Given the description of an element on the screen output the (x, y) to click on. 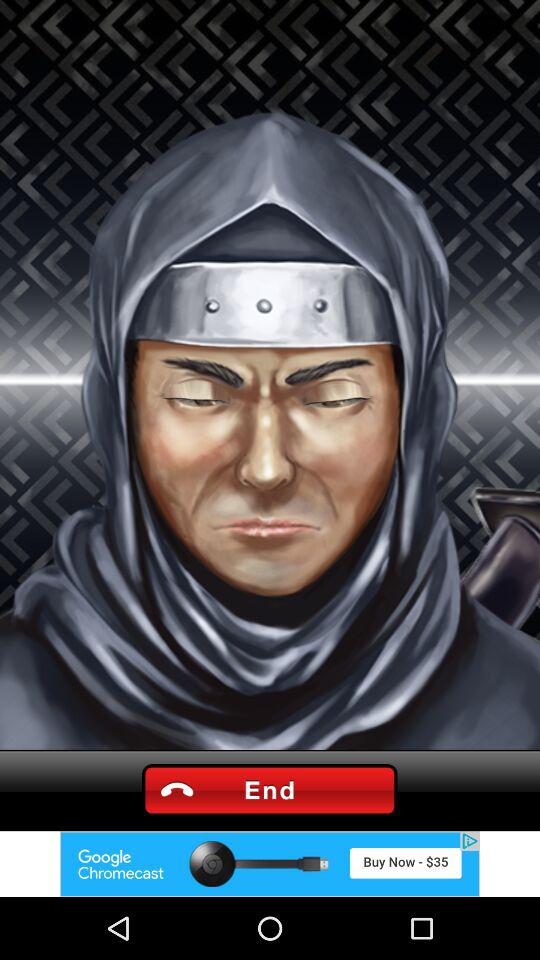
view advertisement (270, 864)
